Given the description of an element on the screen output the (x, y) to click on. 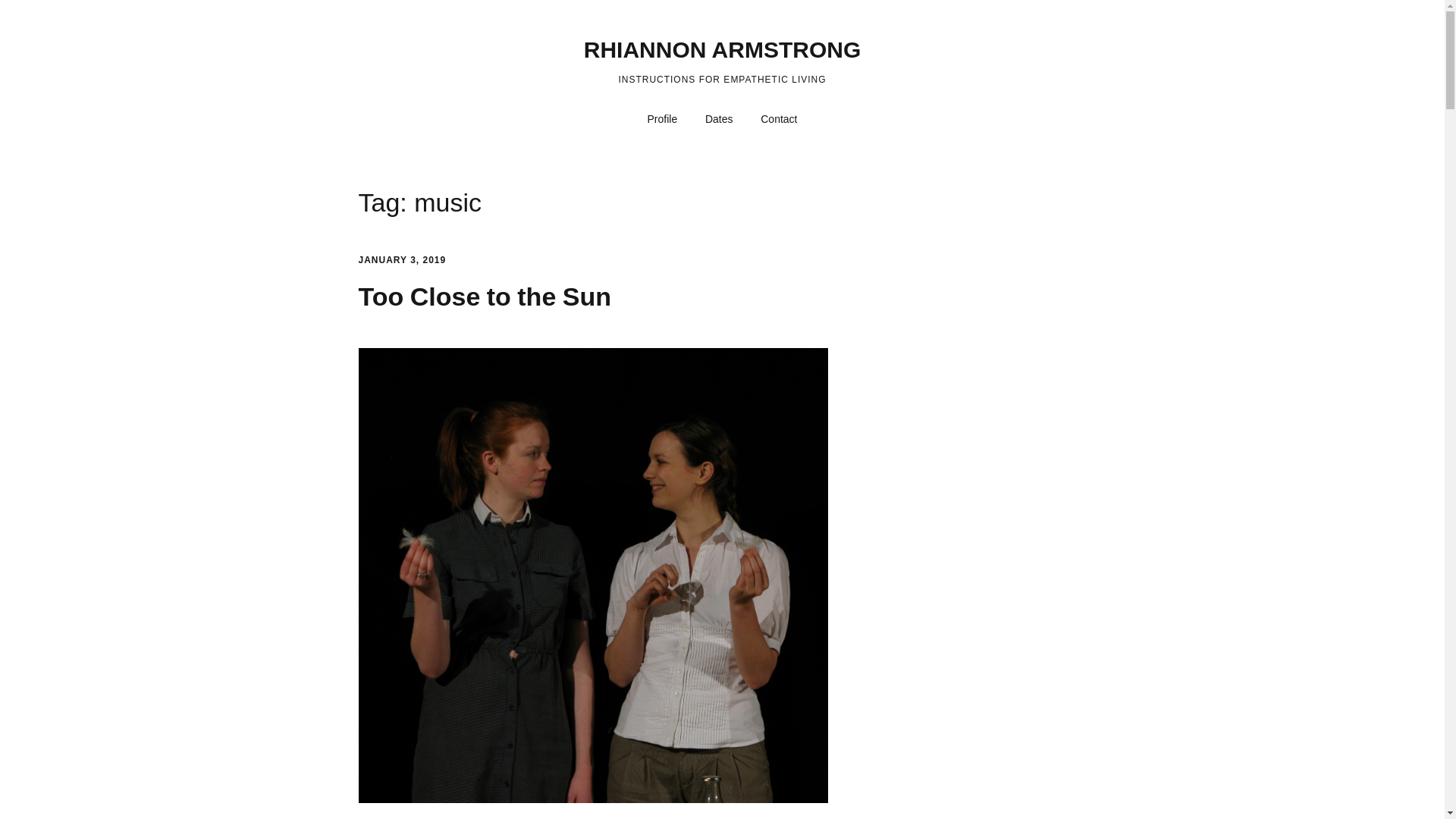
RHIANNON ARMSTRONG (722, 49)
JANUARY 3, 2019 (401, 259)
Too Close to the Sun (484, 296)
Dates (719, 119)
Profile (662, 119)
Contact (778, 119)
